Given the description of an element on the screen output the (x, y) to click on. 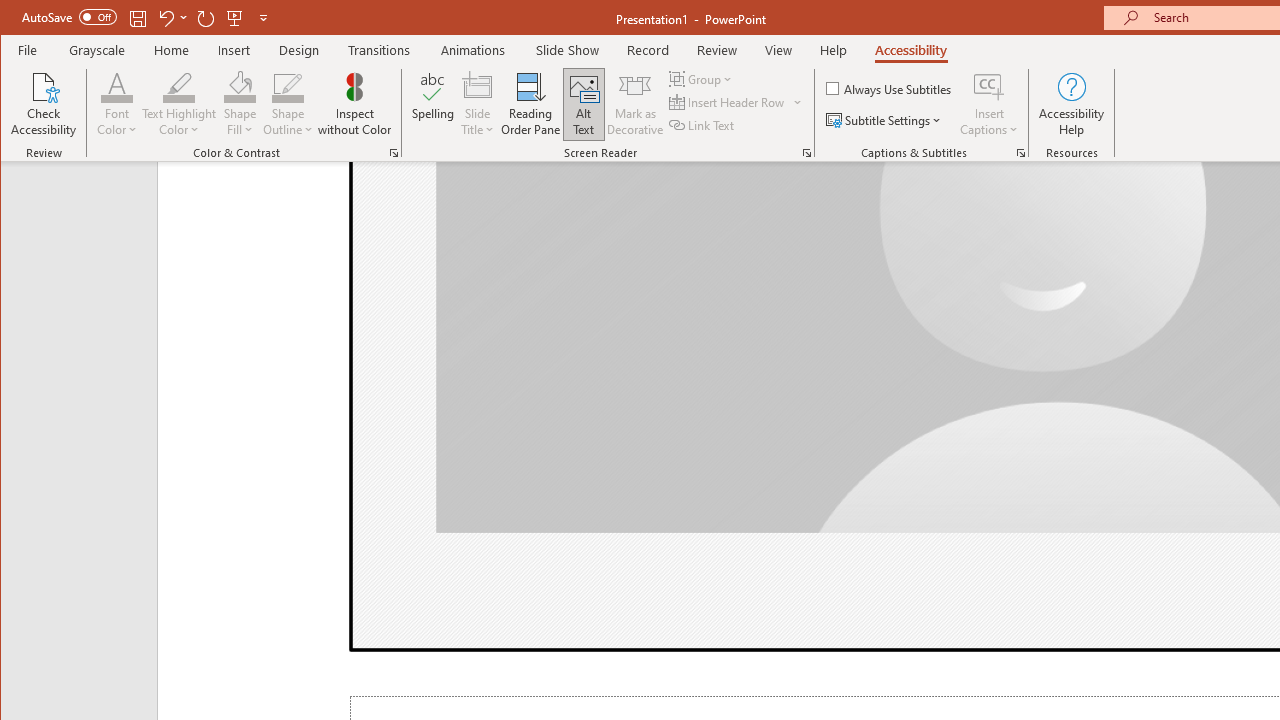
Captions & Subtitles (1020, 152)
Subtitle Settings (885, 119)
Reading Order Pane (531, 104)
